Given the description of an element on the screen output the (x, y) to click on. 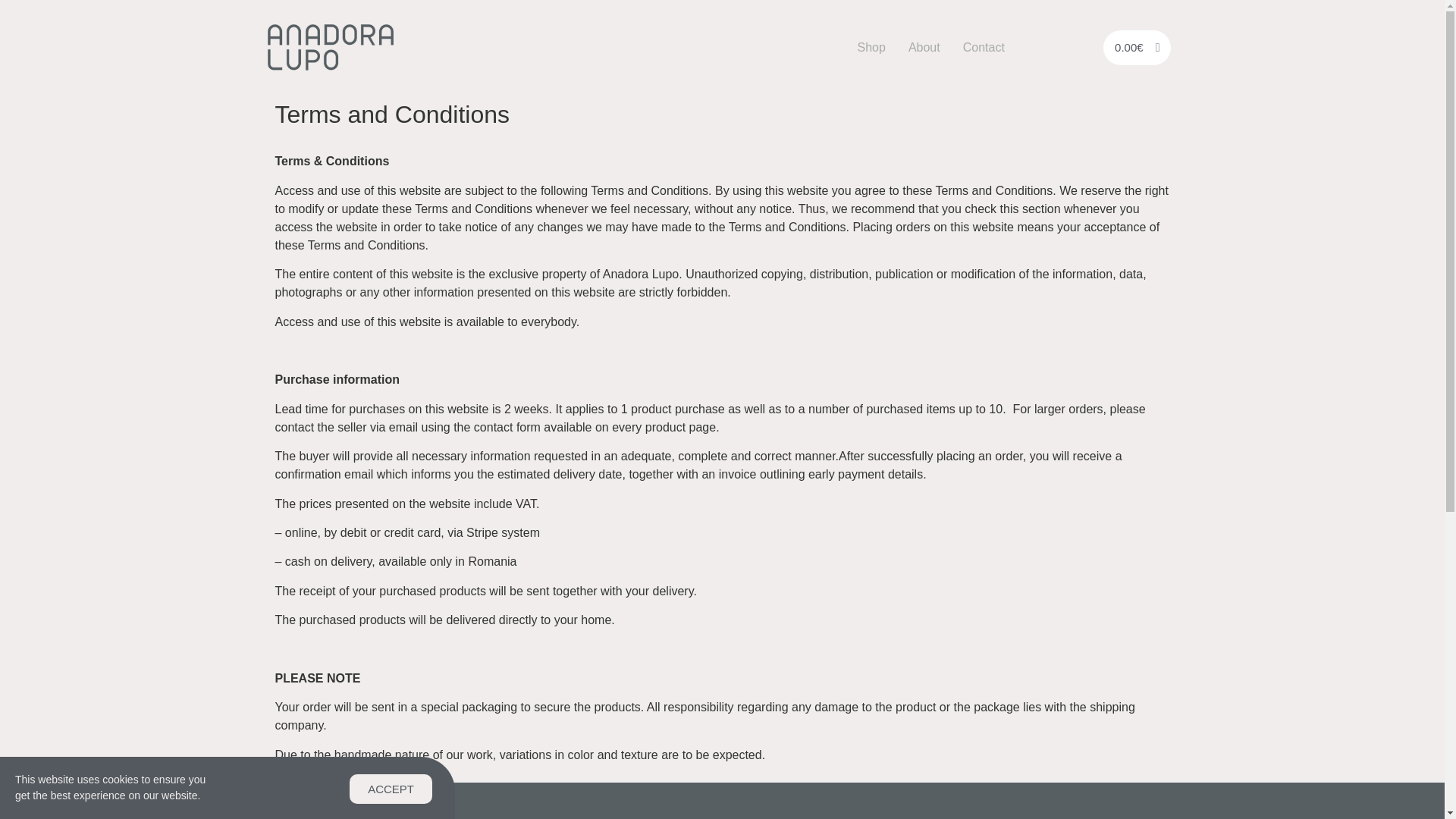
About (924, 47)
ACCEPT (390, 790)
Contact (984, 47)
Shop (870, 47)
